Given the description of an element on the screen output the (x, y) to click on. 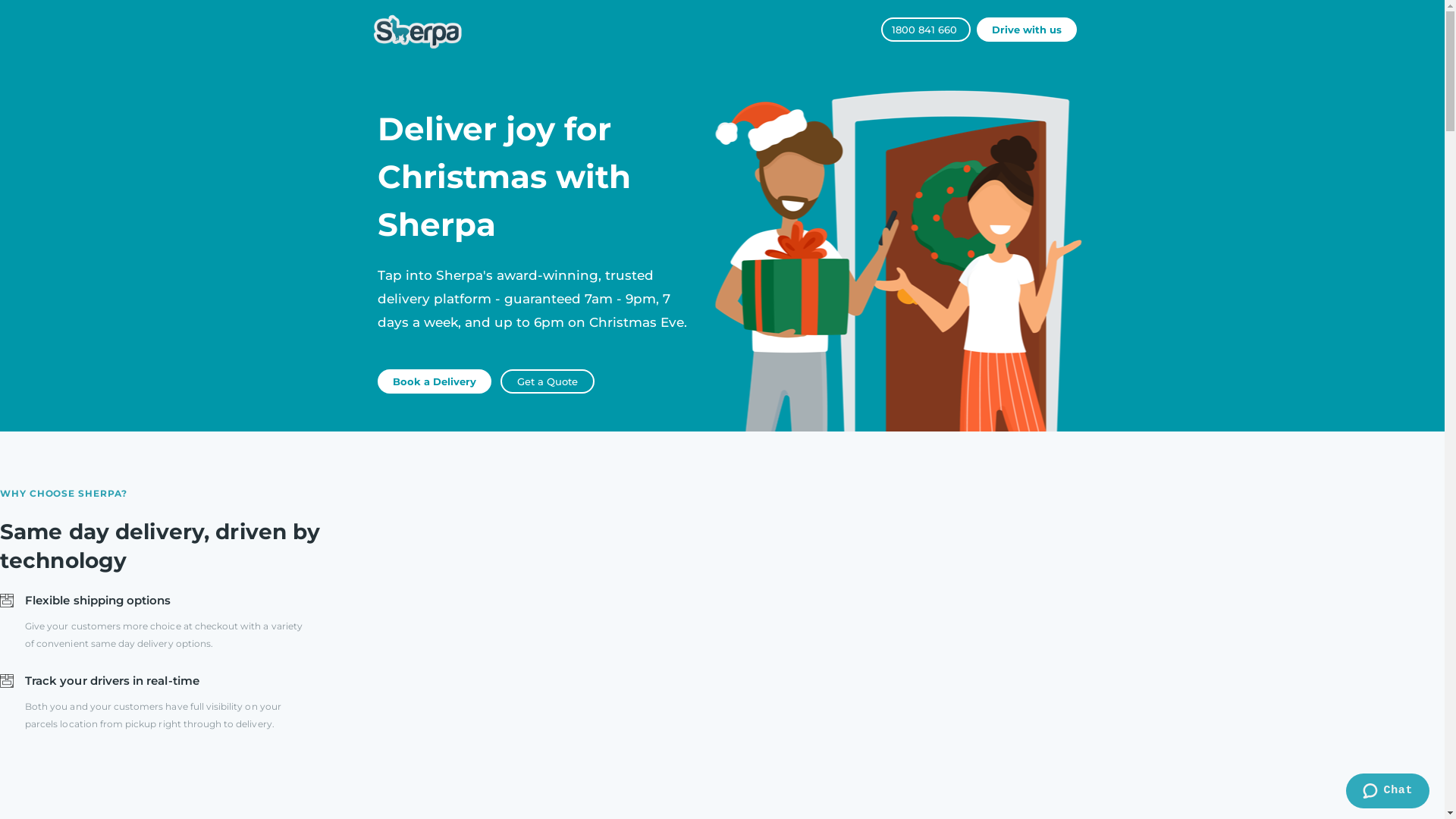
1800 841 660 Element type: text (925, 29)
Get a Quote Element type: text (547, 381)
Book a Delivery Element type: text (434, 381)
Drive with us Element type: text (1026, 29)
Opens a widget where you can chat to one of our agents Element type: hover (1387, 792)
